Given the description of an element on the screen output the (x, y) to click on. 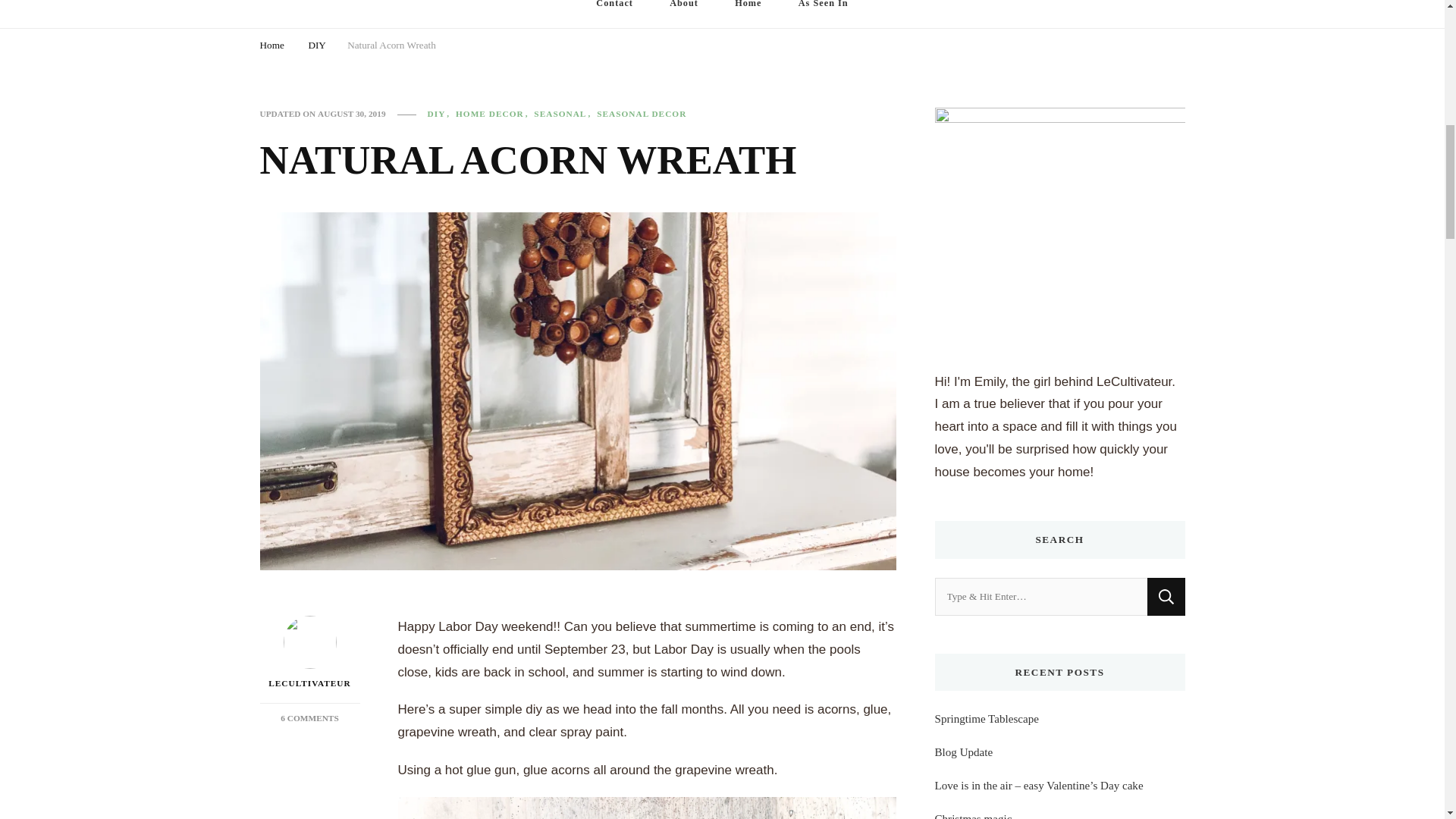
Search (1166, 596)
DIY (316, 46)
SEASONAL (564, 113)
HOME DECOR (493, 113)
About (309, 717)
Contact (683, 13)
DIY (614, 13)
As Seen In (441, 113)
LECULTIVATEUR (822, 13)
SEASONAL DECOR (309, 653)
Home (640, 113)
Home (271, 46)
Natural Acorn Wreath (747, 13)
Search (391, 46)
